Given the description of an element on the screen output the (x, y) to click on. 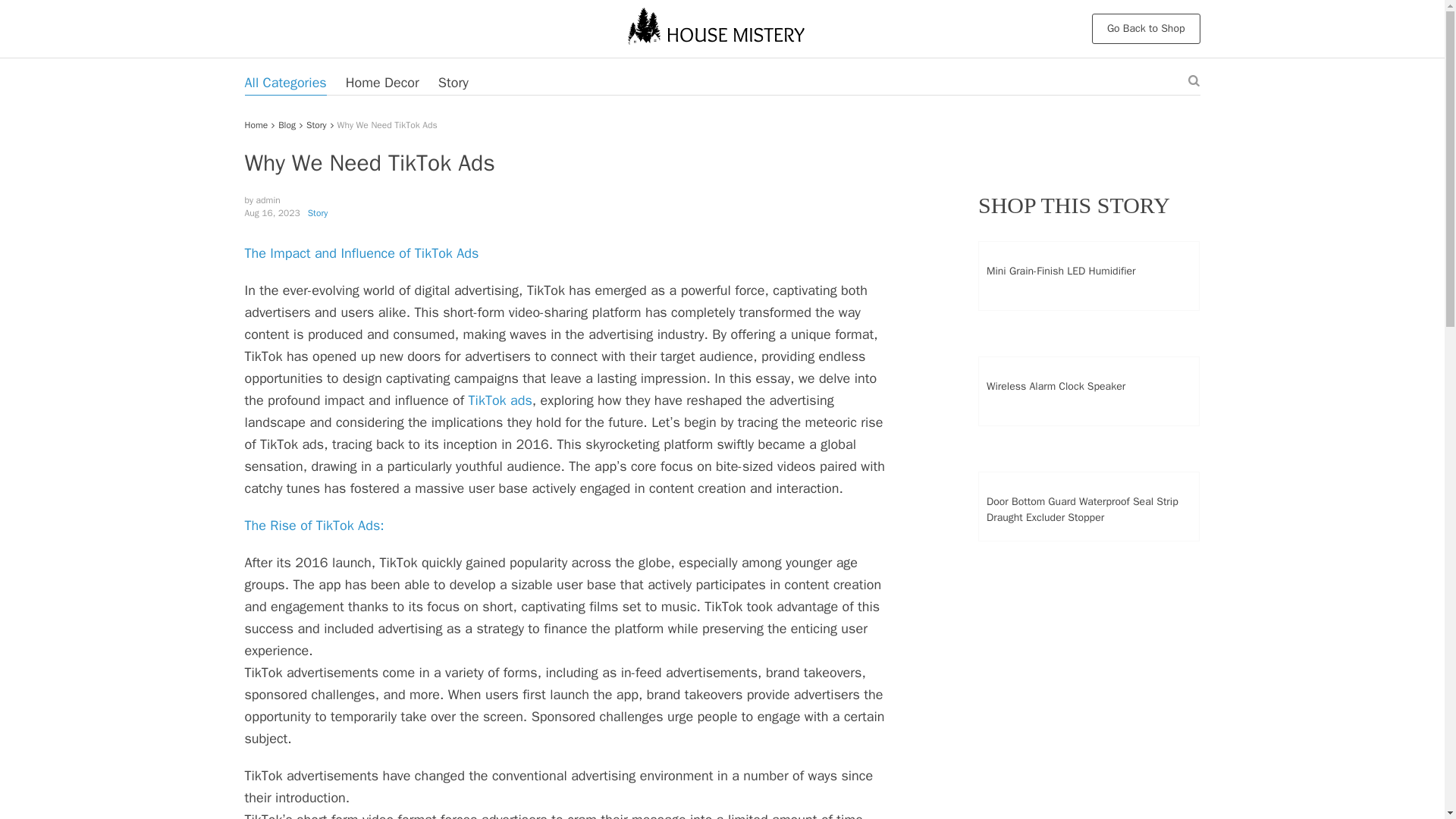
Home Decor (382, 82)
Mini Grain-Finish LED Humidifier (1088, 271)
Go Back to Shop (1145, 28)
Story (318, 213)
Home (255, 124)
Story (315, 124)
The Impact and Influence of TikTok Ads (361, 252)
The Rise of TikTok Ads: (314, 524)
TikTok ads (500, 400)
